Given the description of an element on the screen output the (x, y) to click on. 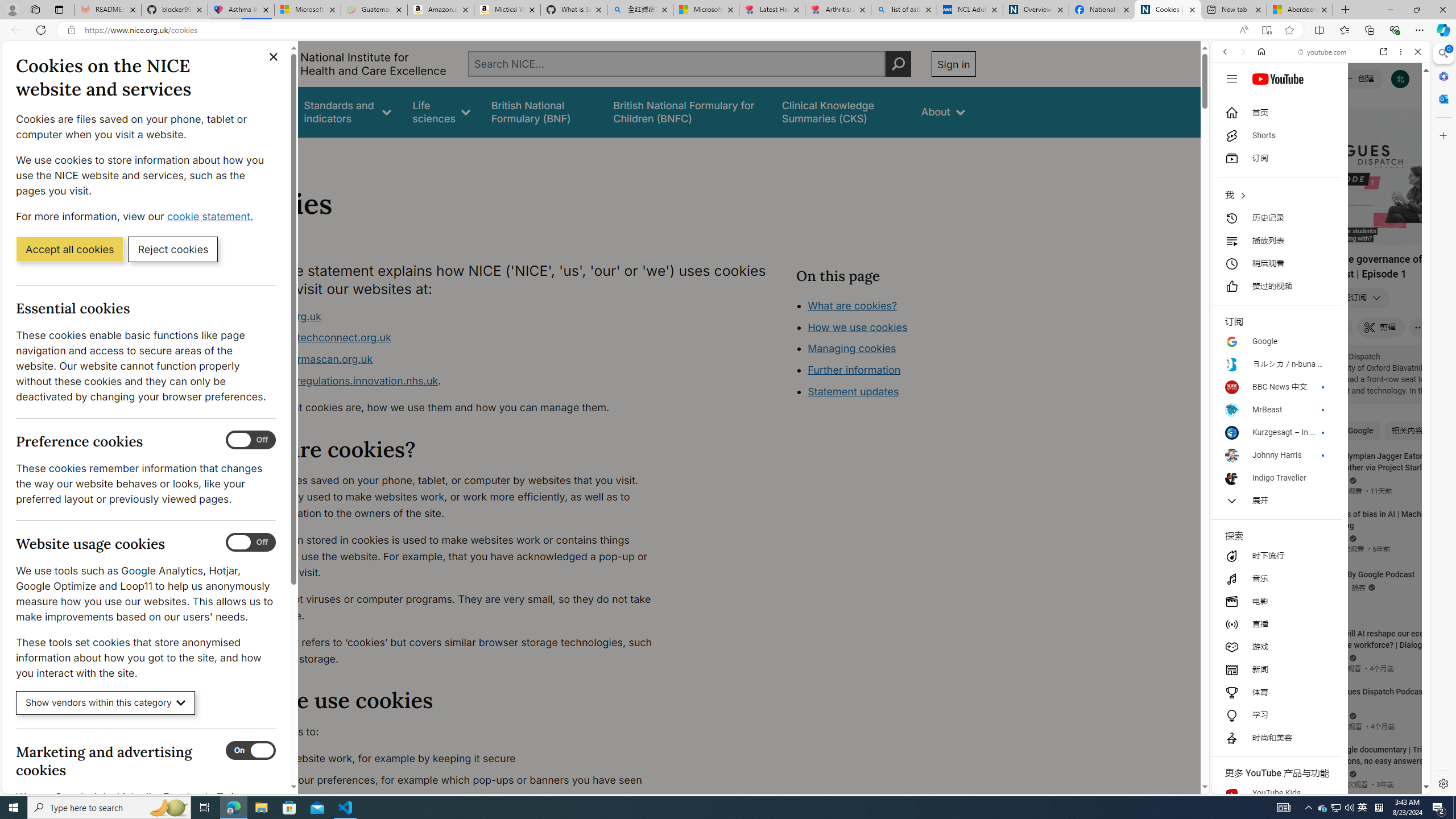
NCL Adult Asthma Inhaler Choice Guideline (969, 9)
Sign in (952, 63)
Cookies | About | NICE (1167, 9)
About (283, 152)
Music (1320, 309)
Trailer #2 [HD] (1320, 337)
